Given the description of an element on the screen output the (x, y) to click on. 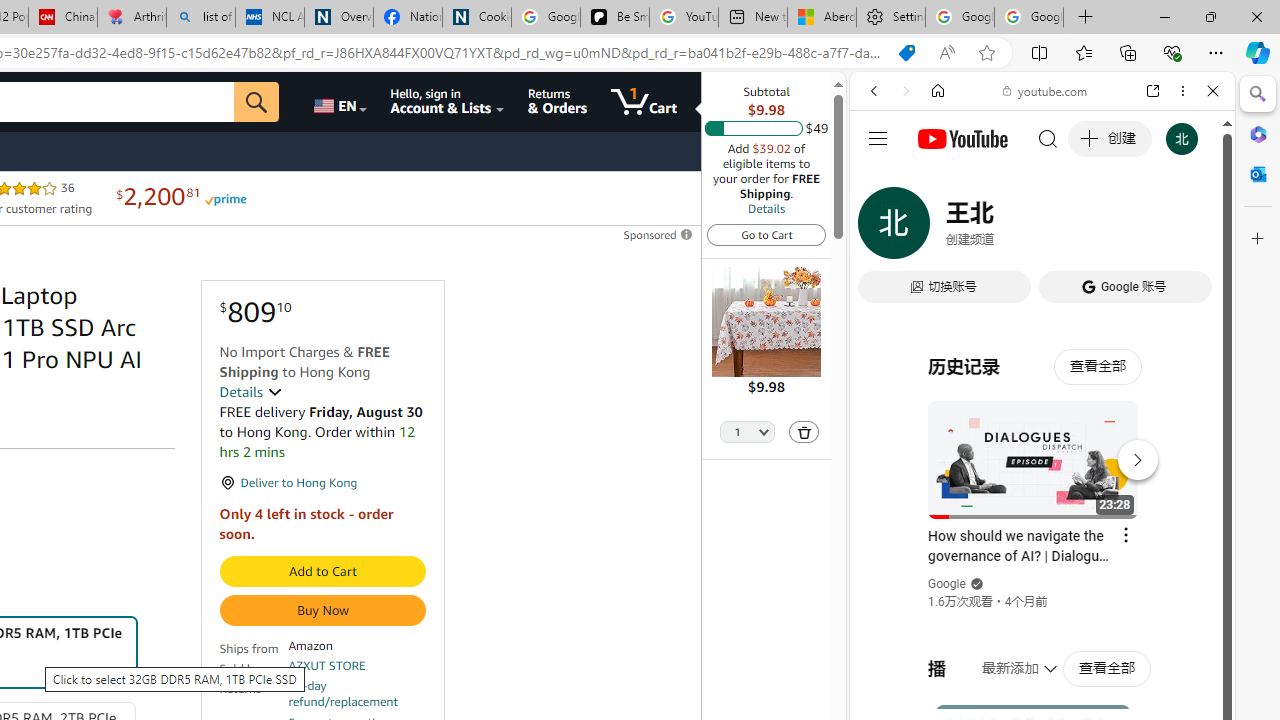
AZXUT STORE (327, 665)
You have the best price! Shopping in Microsoft Edge (906, 53)
youtube.com (1046, 90)
